Given the description of an element on the screen output the (x, y) to click on. 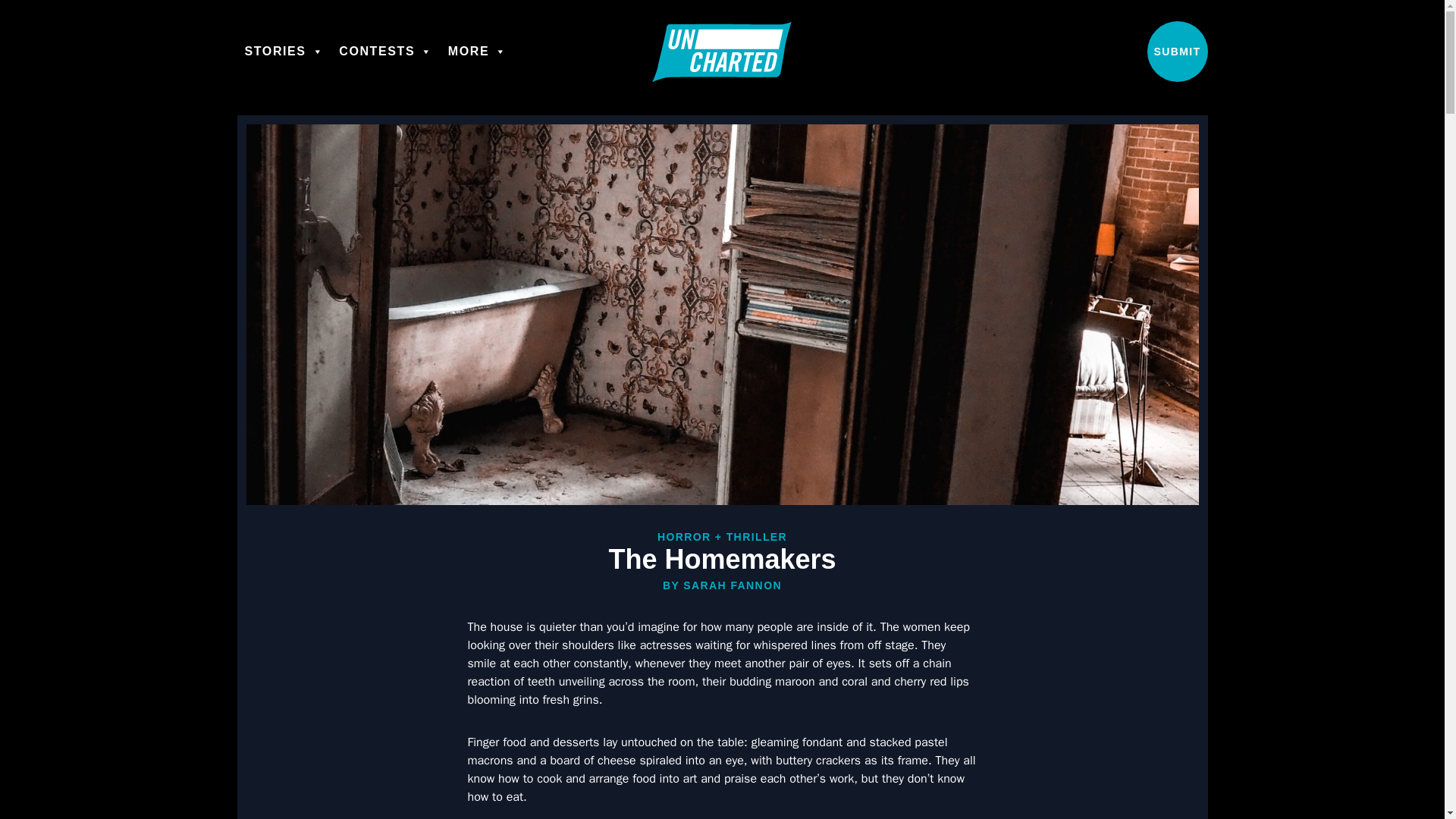
STORIES (283, 51)
SUBMIT (1177, 51)
The Homemakers (721, 558)
MORE (478, 51)
CONTESTS (386, 51)
BY SARAH FANNON (721, 585)
